Given the description of an element on the screen output the (x, y) to click on. 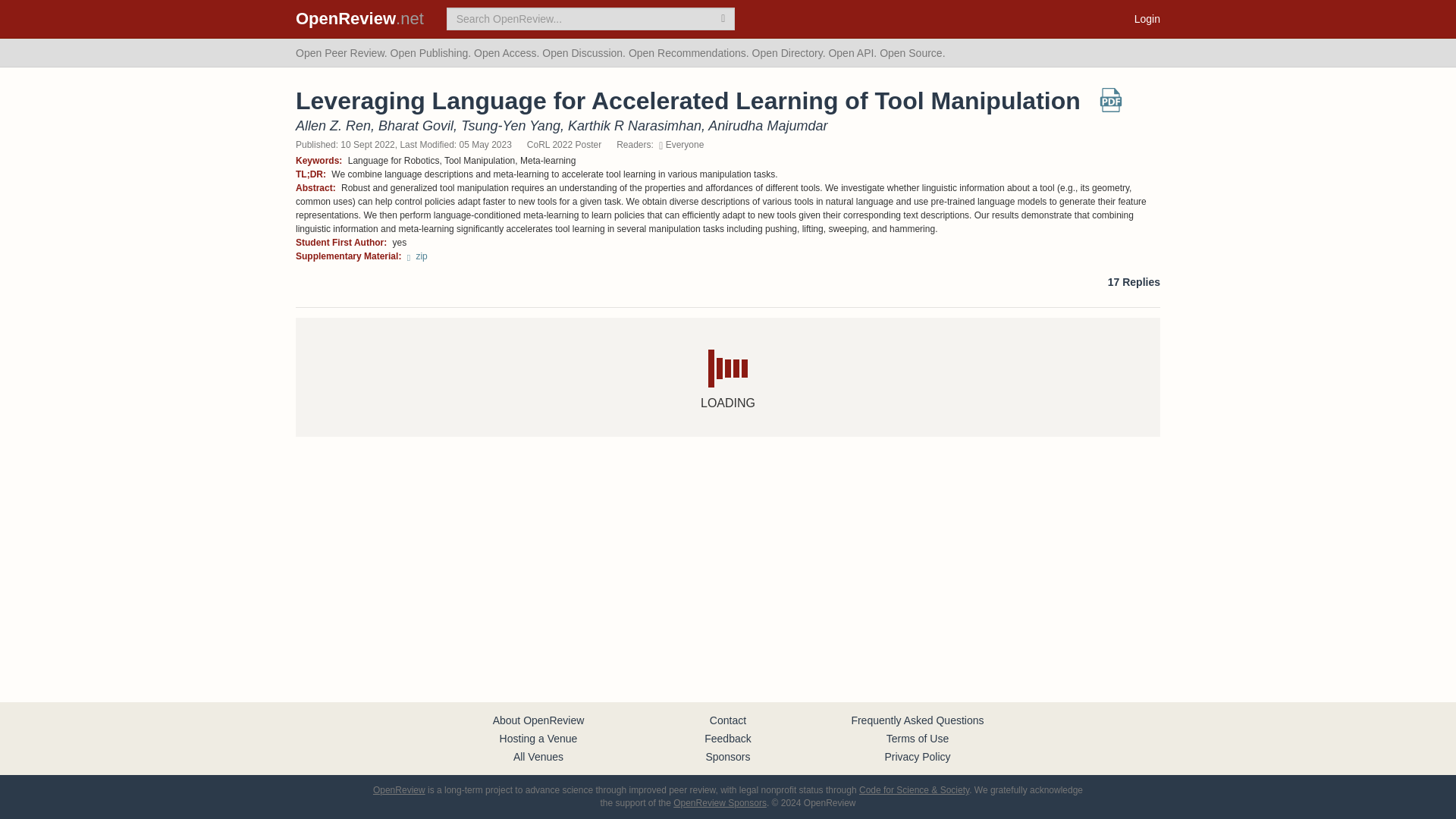
 zip (417, 255)
Tsung-Yen Yang (510, 125)
Privacy Policy (916, 756)
Contact (727, 720)
Login (1147, 18)
Feedback (727, 738)
Karthik R Narasimhan (634, 125)
All Venues (538, 756)
Sponsors (726, 756)
OpenReview.net (359, 18)
